Given the description of an element on the screen output the (x, y) to click on. 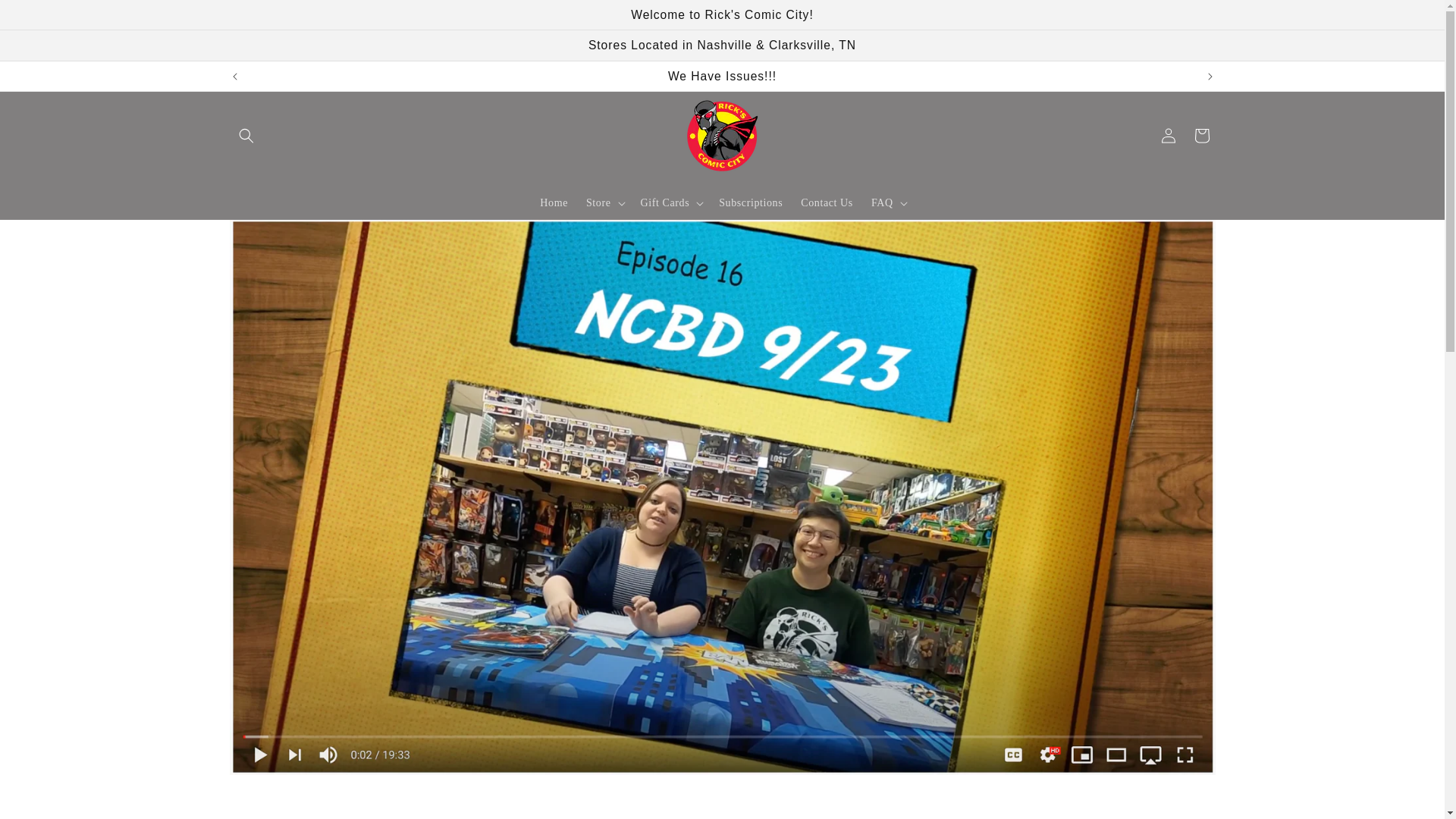
Skip to content (45, 17)
